Given the description of an element on the screen output the (x, y) to click on. 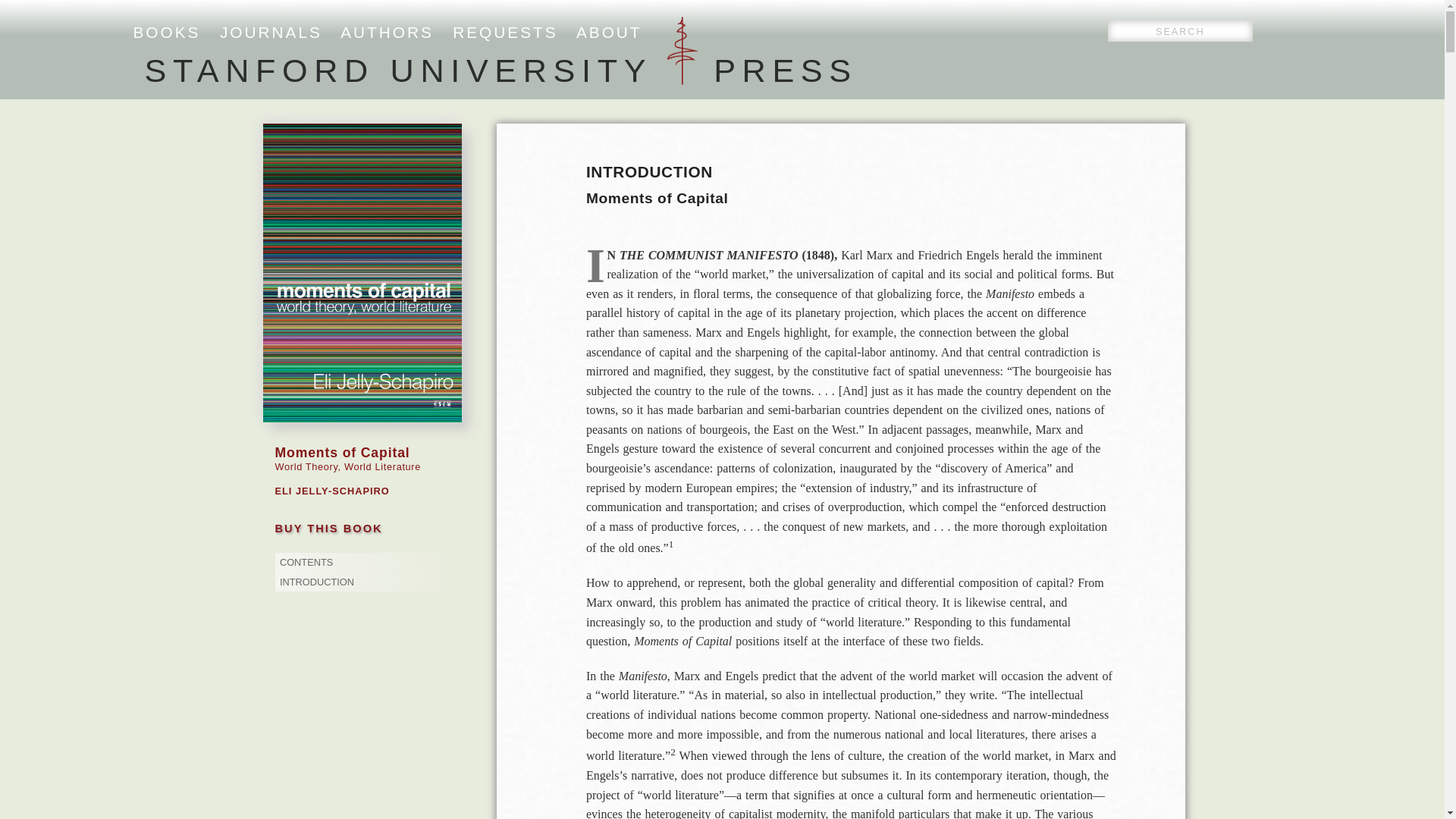
AUTHORS (386, 31)
REQUESTS (504, 31)
STANFORD UNIVERSITY PRESS (500, 70)
ABOUT (609, 31)
JOURNALS (270, 31)
CONTENTS (306, 562)
BUY THIS BOOK (328, 527)
BOOKS (166, 31)
INTRODUCTION (316, 582)
